Given the description of an element on the screen output the (x, y) to click on. 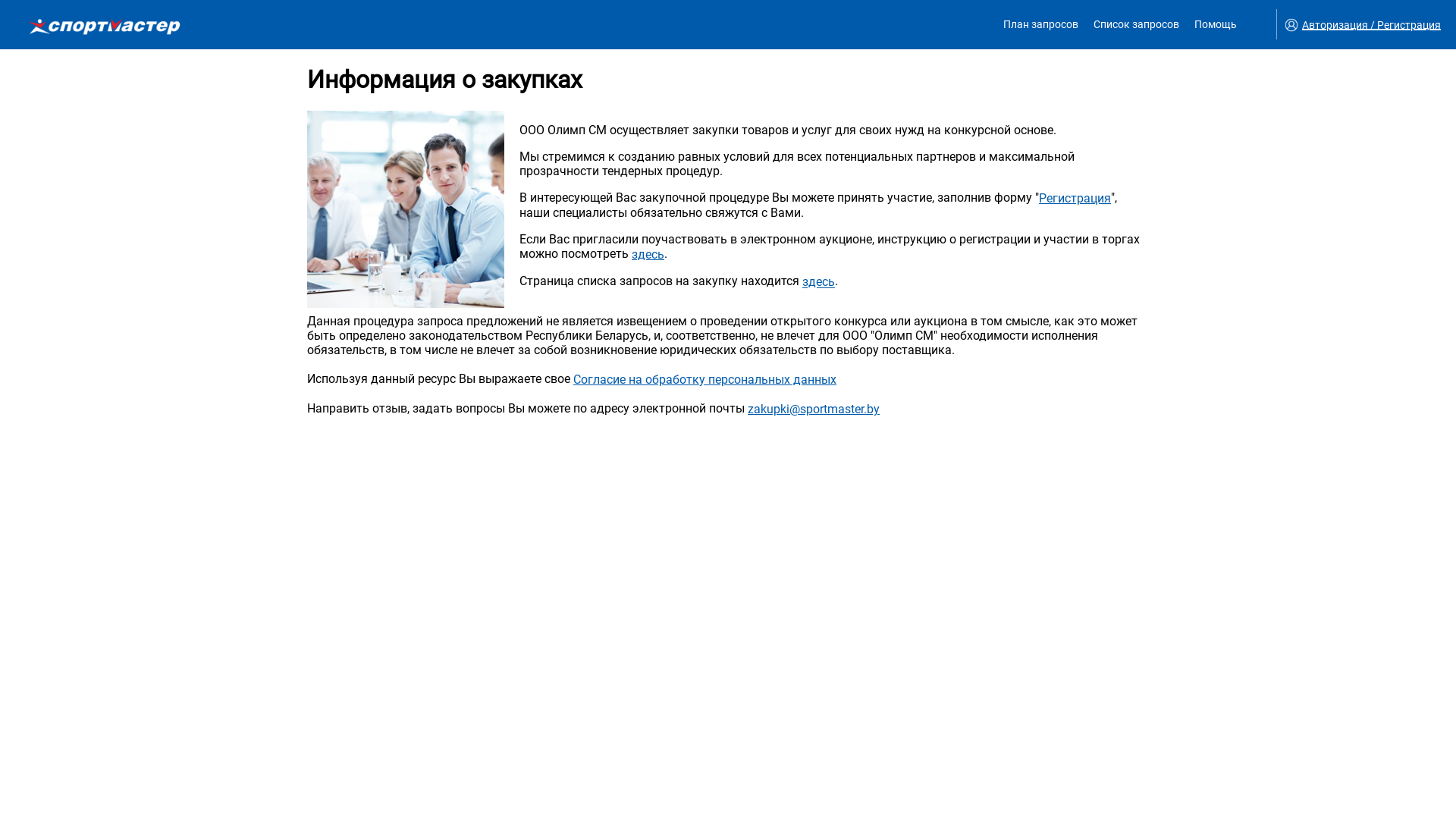
zakupki@sportmaster.by Element type: text (813, 408)
